Given the description of an element on the screen output the (x, y) to click on. 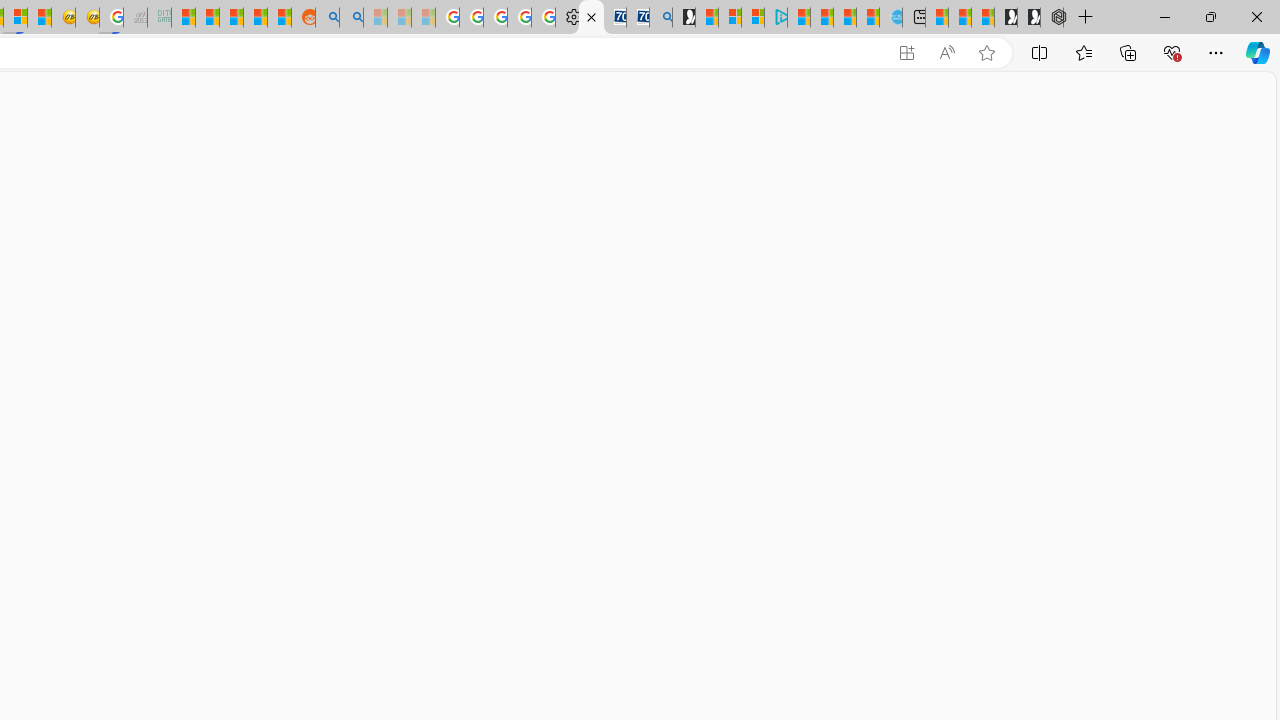
Wallet (590, 17)
App available. Install Microsoft Wallet (906, 53)
